Given the description of an element on the screen output the (x, y) to click on. 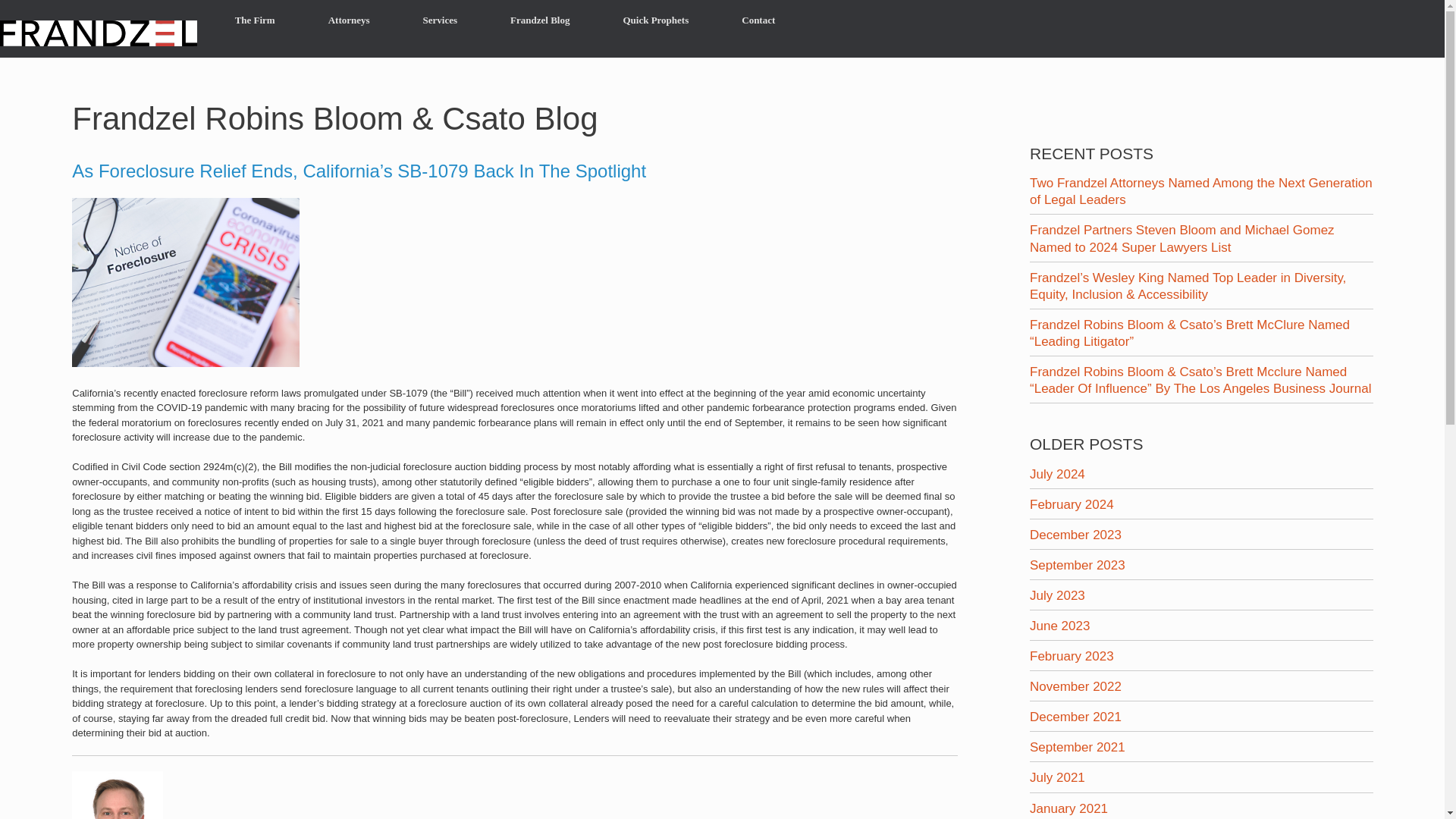
Attorneys (348, 20)
July 2023 (1056, 595)
February 2024 (1071, 504)
June 2023 (1059, 626)
July 2024 (1056, 473)
September 2023 (1077, 564)
July 2021 (1056, 777)
Contact (758, 20)
The Firm (254, 20)
February 2023 (1071, 656)
Frandzel, Attorneys at Law (98, 30)
Quick Prophets (654, 20)
January 2021 (1068, 808)
Frandzel Blog (539, 20)
